Given the description of an element on the screen output the (x, y) to click on. 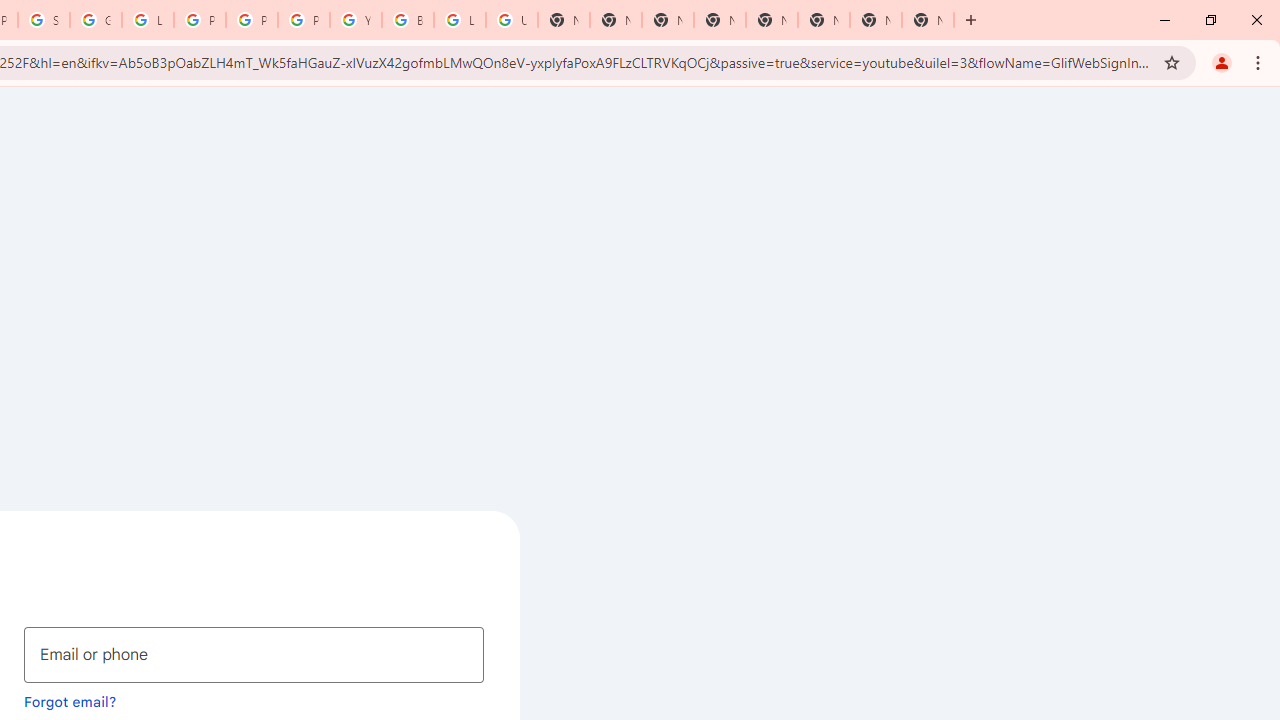
Forgot email? (70, 701)
New Tab (927, 20)
